Given the description of an element on the screen output the (x, y) to click on. 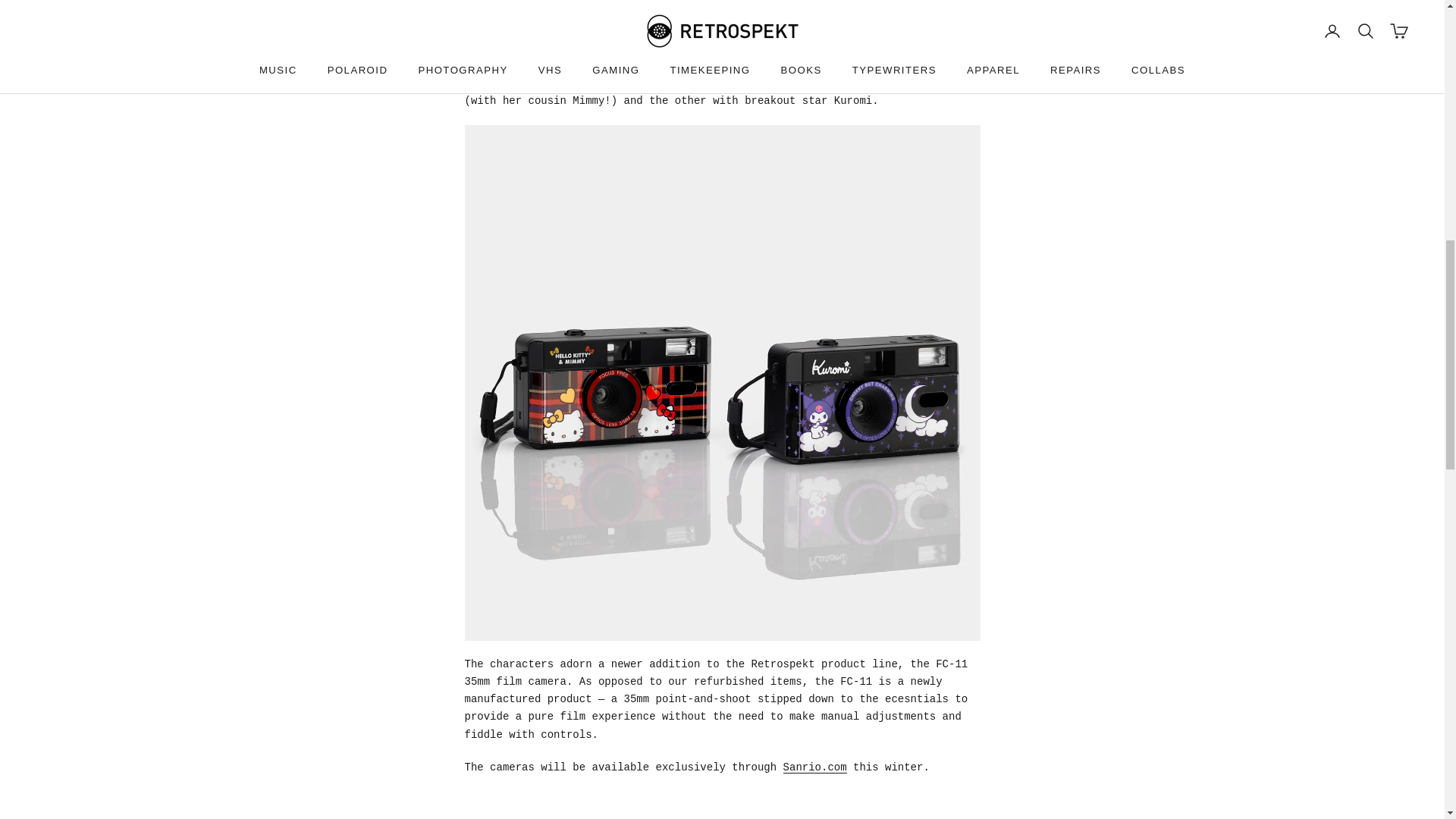
Sanrio's online store (815, 767)
